Given the description of an element on the screen output the (x, y) to click on. 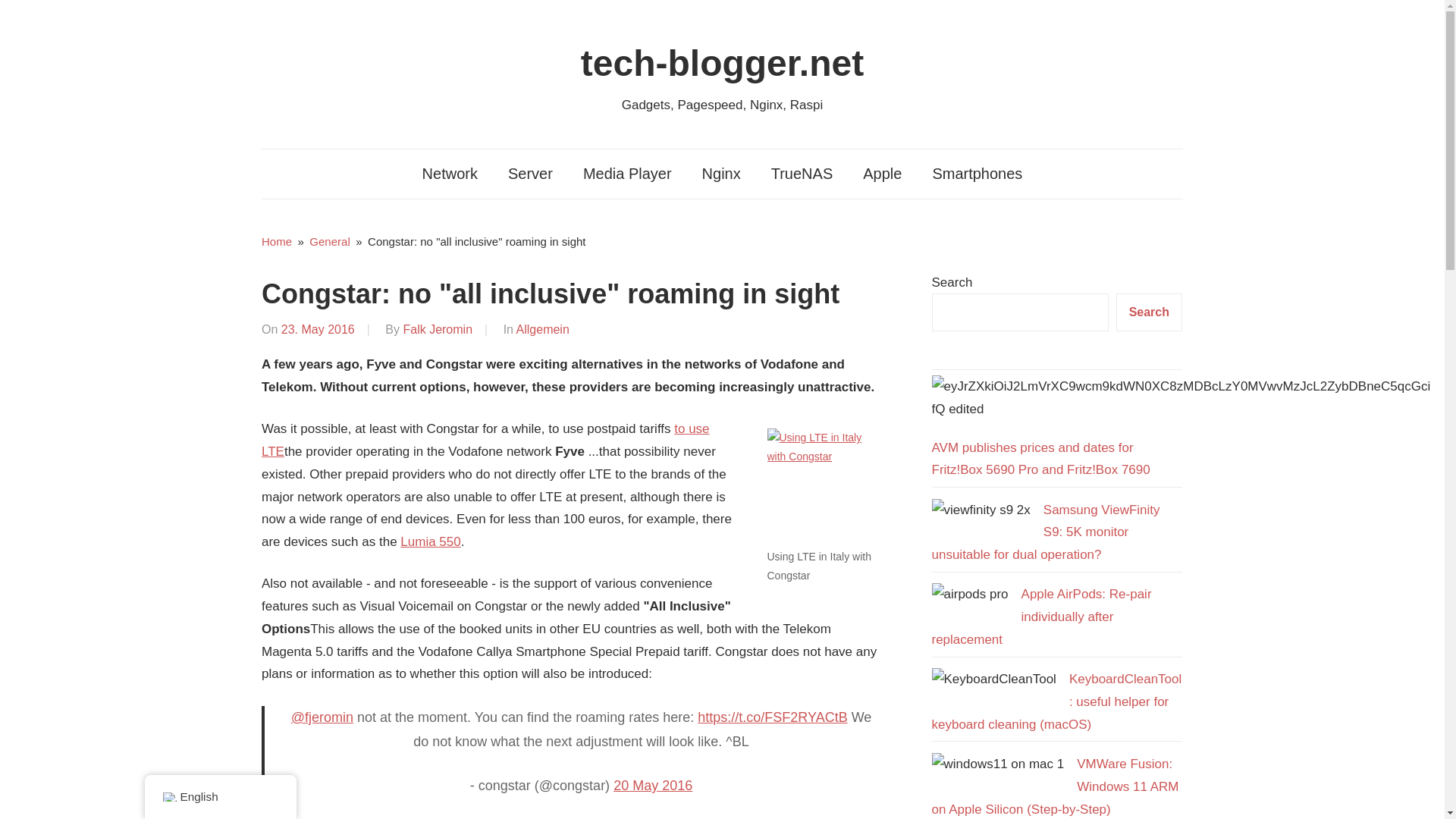
General (328, 241)
to use LTE (486, 439)
Lumia 550 (430, 541)
23:51 (318, 328)
Allgemein (542, 328)
Smartphones (976, 174)
Media Player (627, 174)
20 May 2016 (652, 785)
Nginx (721, 174)
Home (277, 241)
23. May 2016 (318, 328)
TrueNAS (801, 174)
Network (450, 174)
Server (530, 174)
